Given the description of an element on the screen output the (x, y) to click on. 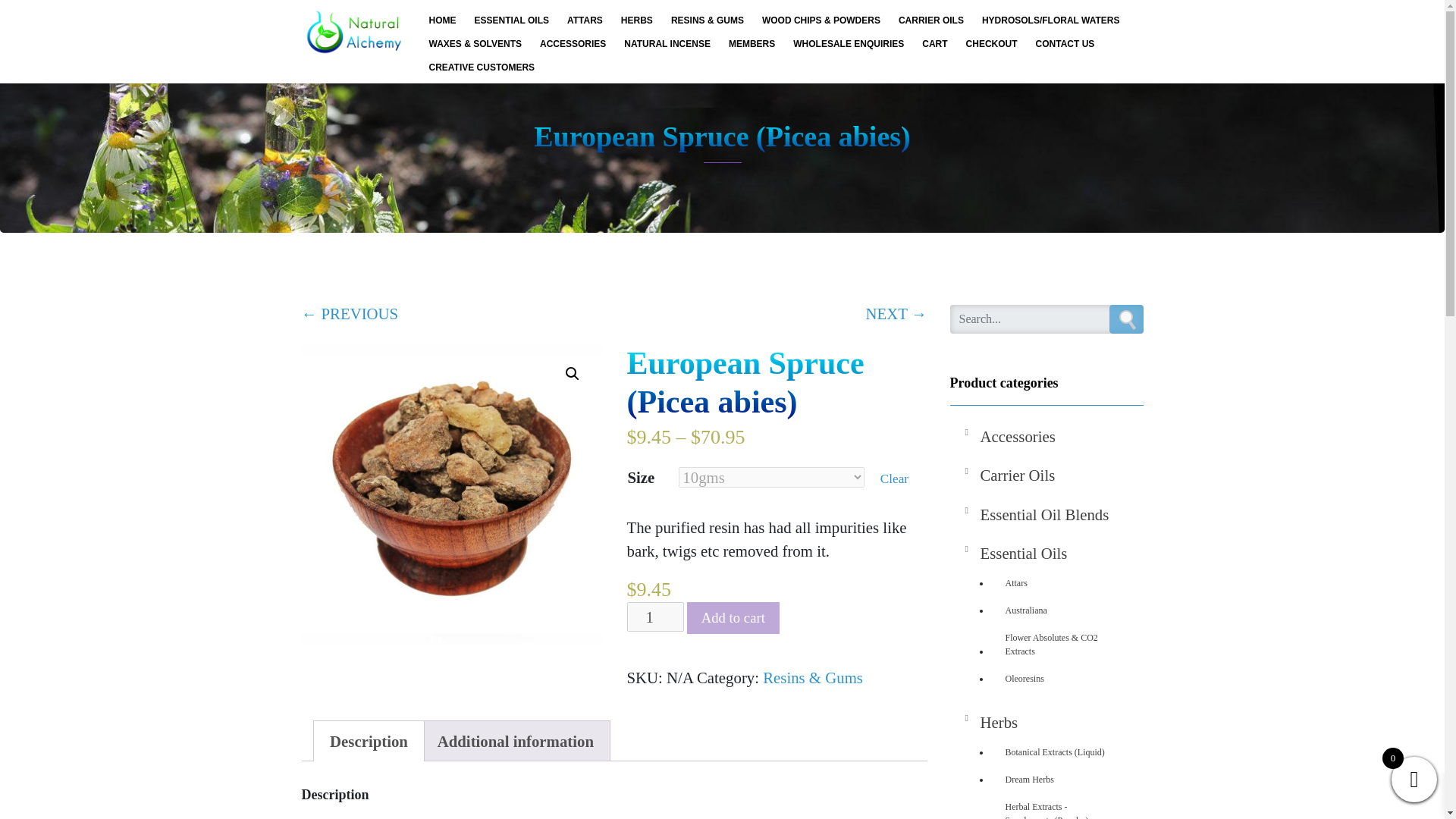
NATURAL INCENSE (666, 43)
MEMBERS (751, 43)
Additional information (516, 740)
ESSENTIAL OILS (511, 20)
CARRIER OILS (930, 20)
european-spruce (451, 493)
Clear (894, 478)
Description (368, 740)
ATTARS (584, 20)
Search for: (1045, 318)
1 (655, 616)
HERBS (636, 20)
CART (934, 43)
CHECKOUT (991, 43)
ACCESSORIES (572, 43)
